Given the description of an element on the screen output the (x, y) to click on. 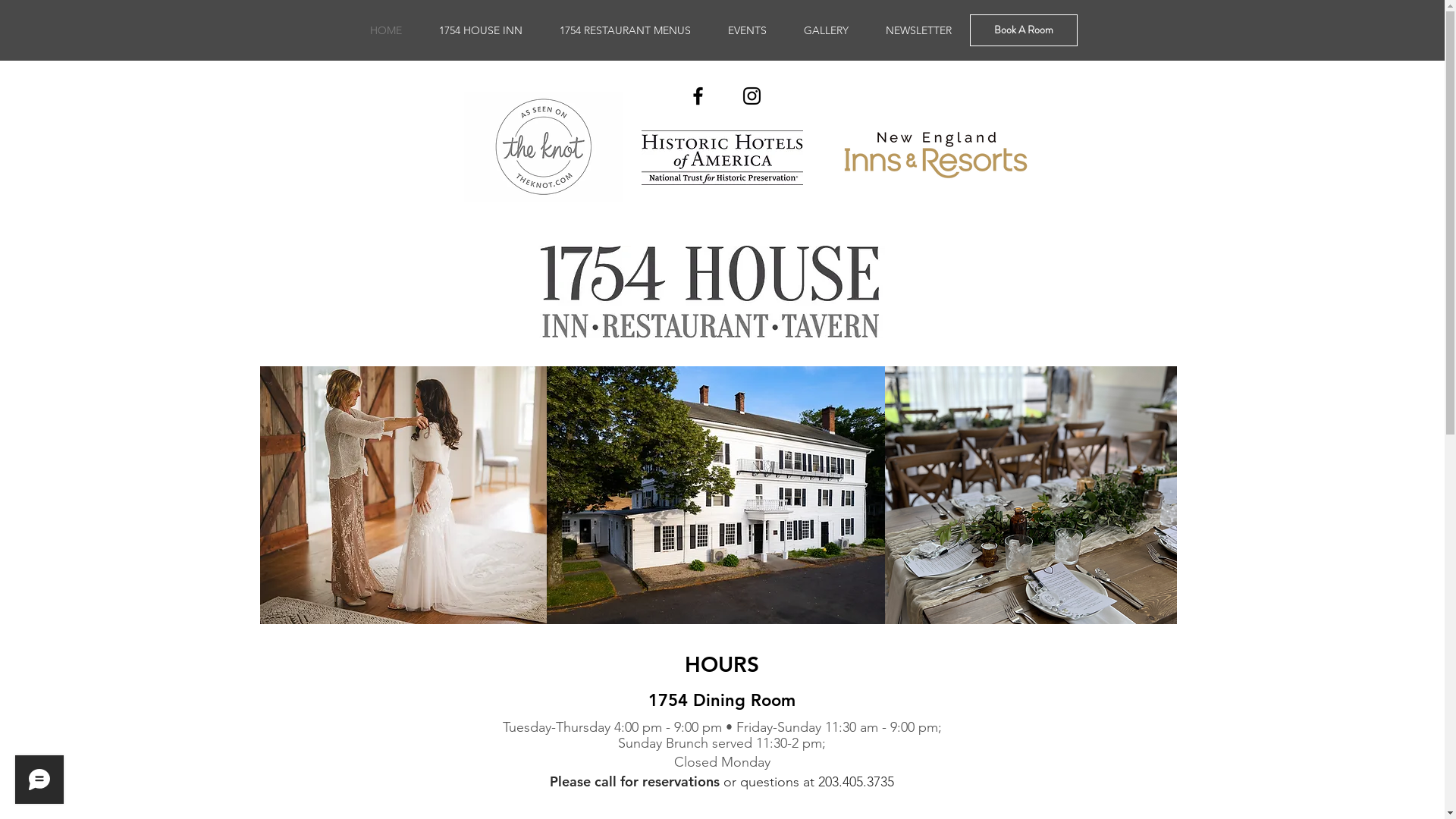
HOME Element type: text (385, 30)
GALLERY Element type: text (826, 30)
EVENTS Element type: text (747, 30)
1754 HOUSE INN Element type: text (480, 30)
Book A Room Element type: text (1022, 30)
Enlight450.jpg Element type: hover (1005, 495)
1754 RESTAURANT MENUS Element type: text (625, 30)
NEWSLETTER Element type: text (918, 30)
